Given the description of an element on the screen output the (x, y) to click on. 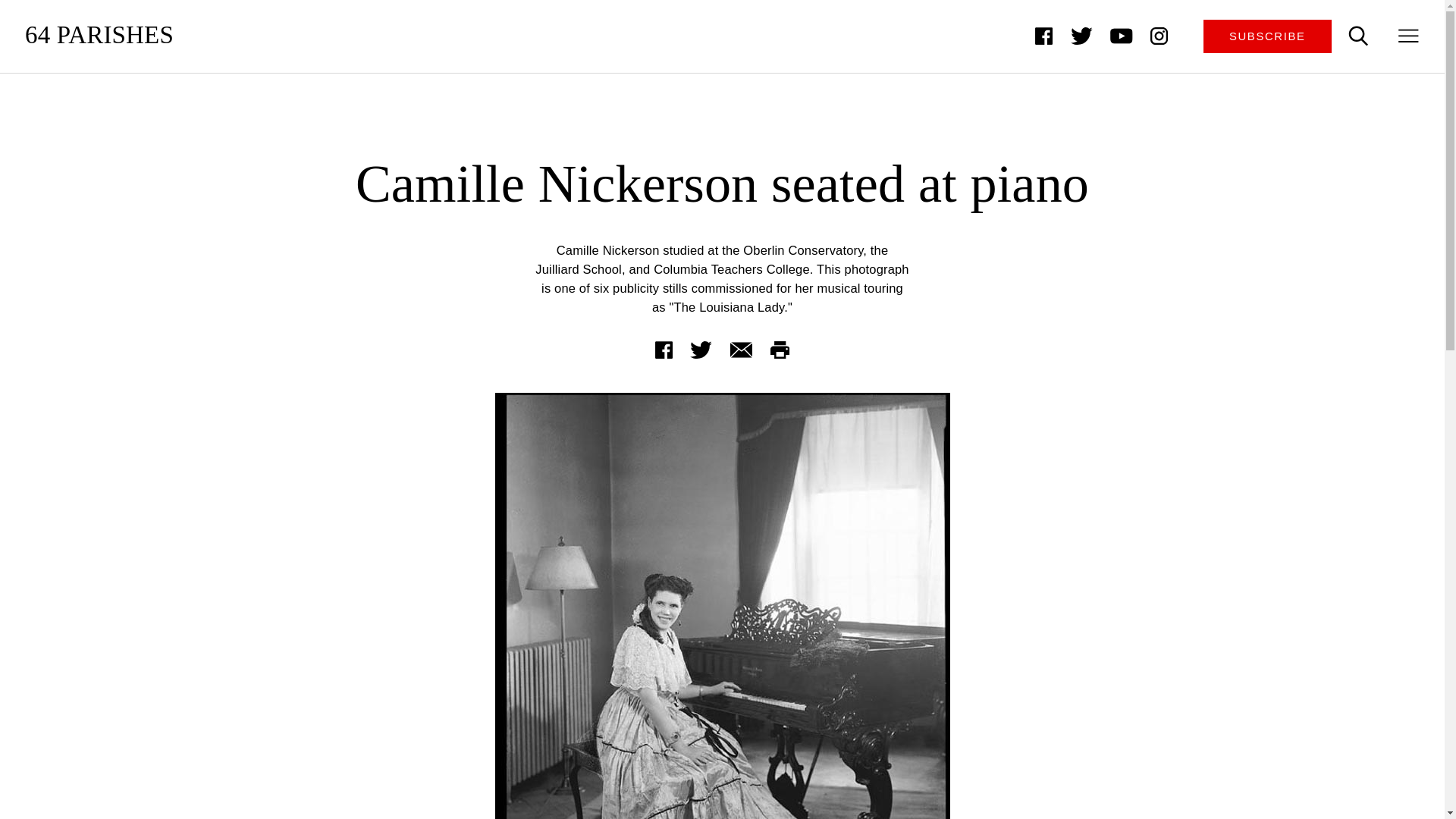
Follow us on Twitter (1081, 36)
Print this Article (779, 349)
Email (740, 349)
MENU (1409, 35)
64 PARISHES (98, 35)
Search the site (1358, 35)
Share via Email (740, 349)
Twitter (700, 349)
SEARCH (1358, 35)
64 Parishes Home Page (98, 35)
